Given the description of an element on the screen output the (x, y) to click on. 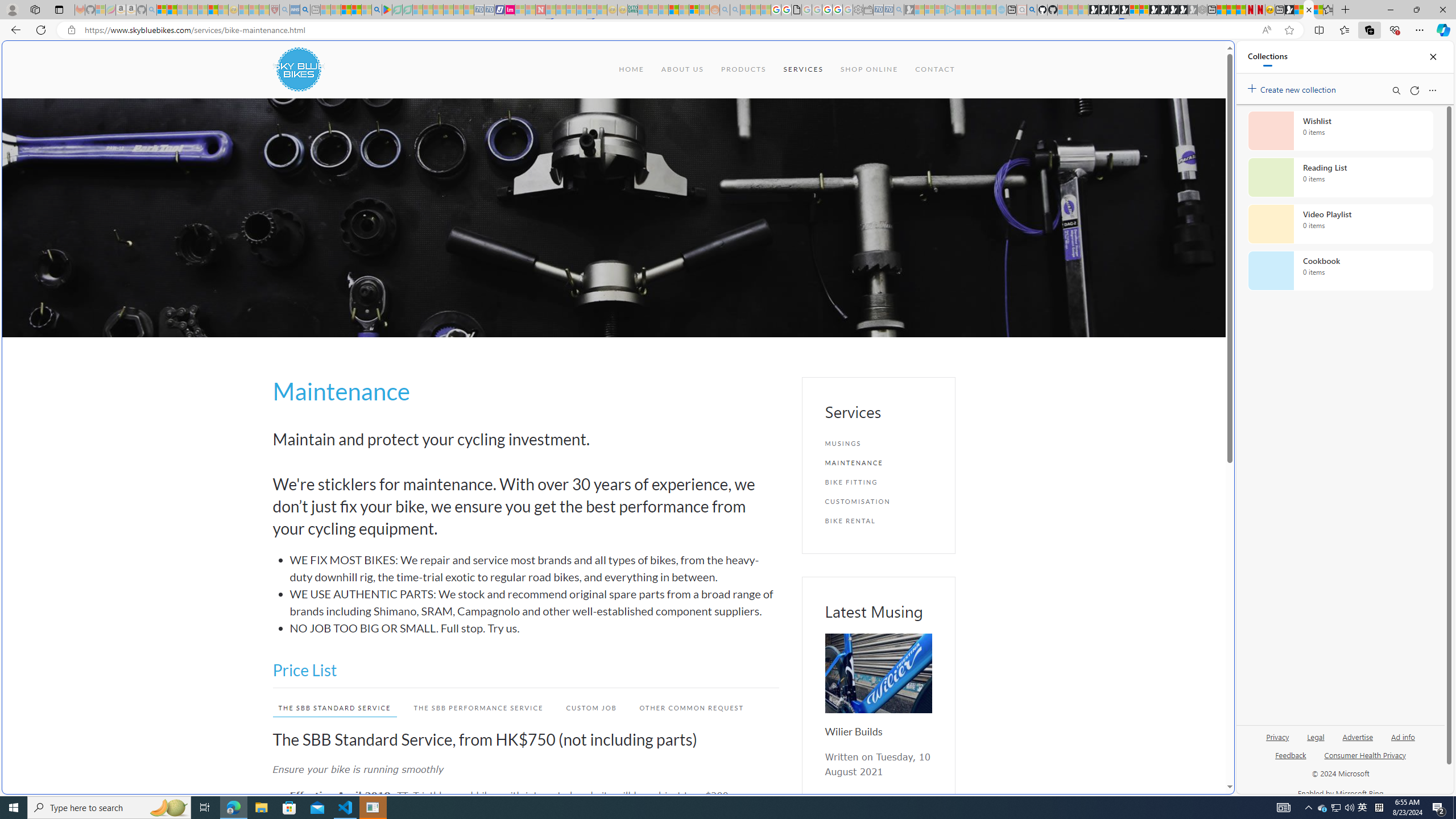
ABOUT US (681, 68)
Terms of Use Agreement - Sleeping (397, 9)
MAINTENANCE (878, 462)
14 Common Myths Debunked By Scientific Facts - Sleeping (560, 9)
Cheap Hotels - Save70.com - Sleeping (489, 9)
Microsoft account | Privacy - Sleeping (939, 9)
New Report Confirms 2023 Was Record Hot | Watch - Sleeping (202, 9)
Reading List collection, 0 items (1339, 177)
Search (1396, 90)
Collections (1267, 56)
Restore (1416, 9)
